Given the description of an element on the screen output the (x, y) to click on. 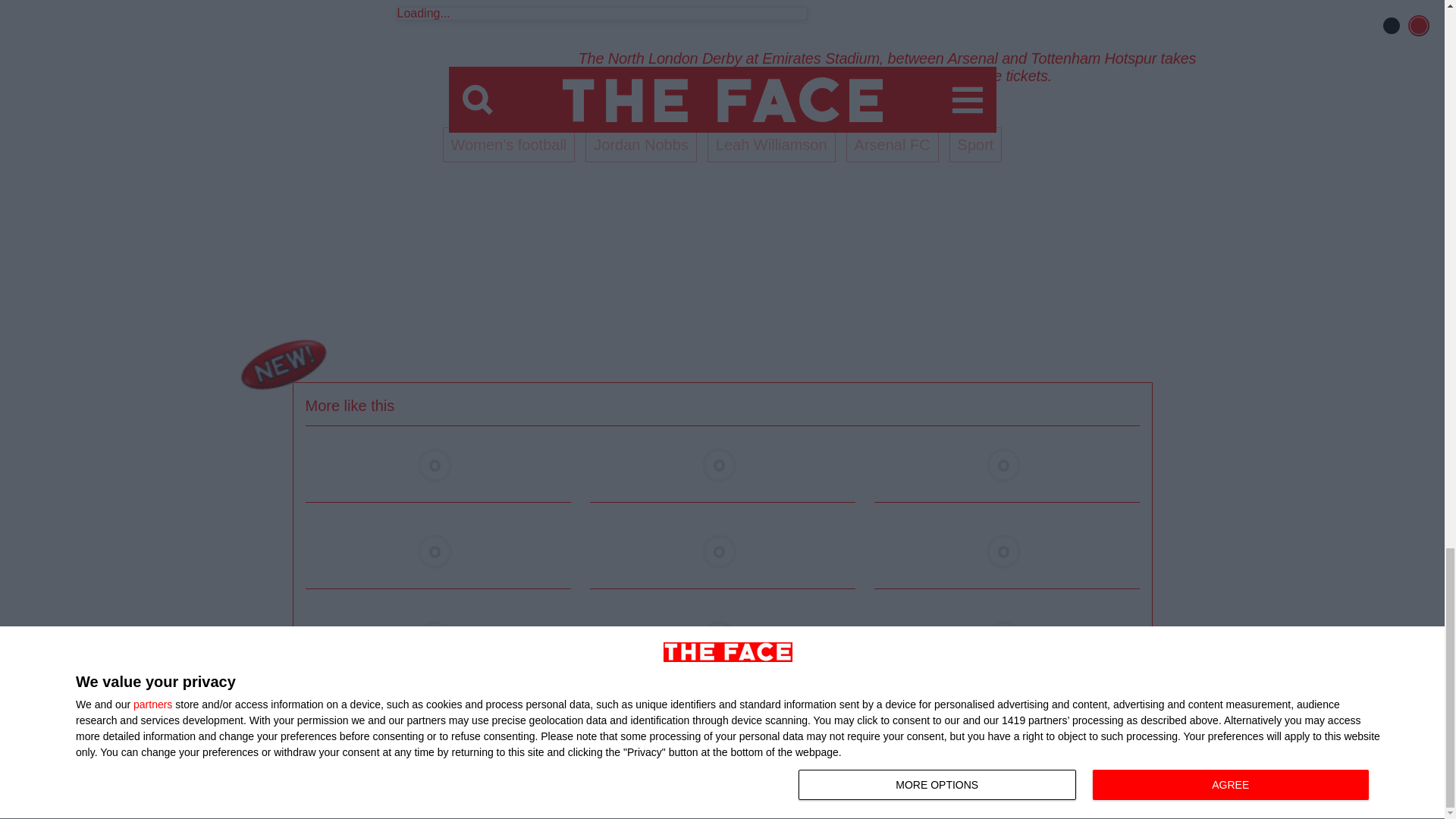
Leah Williamson (771, 144)
Careers (996, 783)
Archive (665, 783)
Terms and Conditions (898, 783)
The Face Represents (762, 783)
Sport (976, 144)
here (904, 75)
About (536, 783)
Jordan Nobbs (641, 144)
Arsenal FC (892, 144)
